Given the description of an element on the screen output the (x, y) to click on. 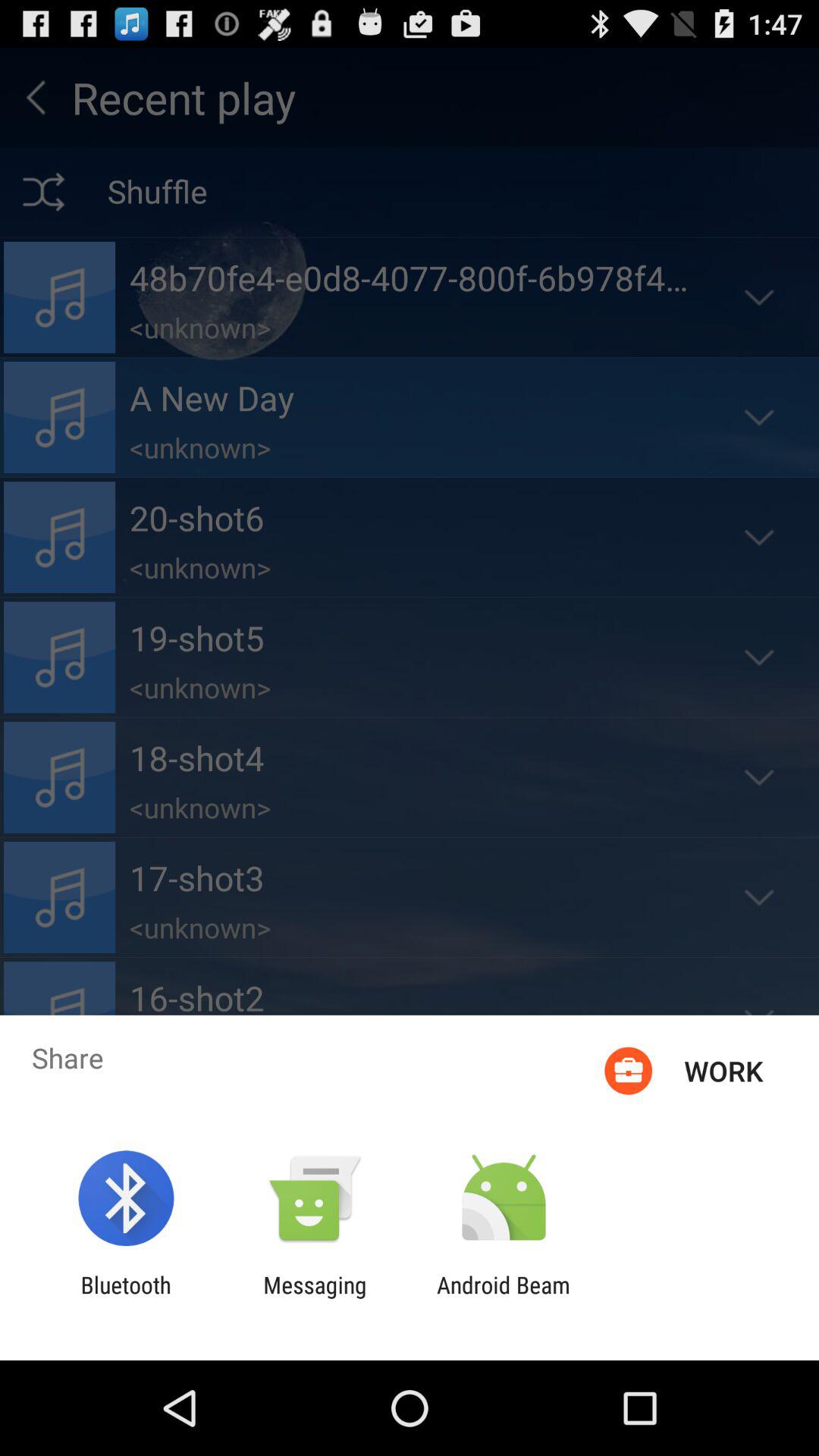
open item to the left of android beam icon (314, 1298)
